Given the description of an element on the screen output the (x, y) to click on. 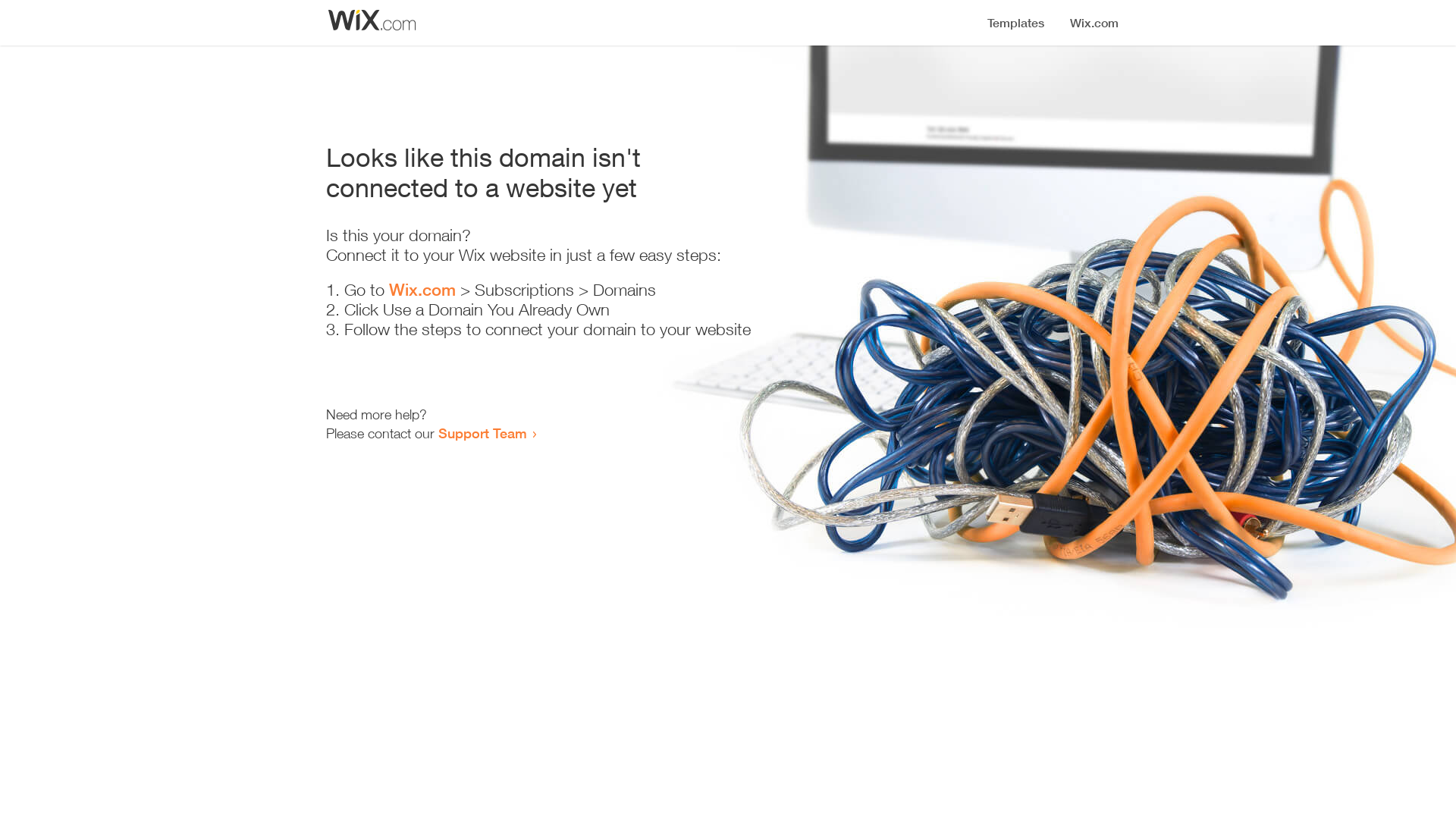
Support Team Element type: text (482, 432)
Wix.com Element type: text (422, 289)
